Given the description of an element on the screen output the (x, y) to click on. 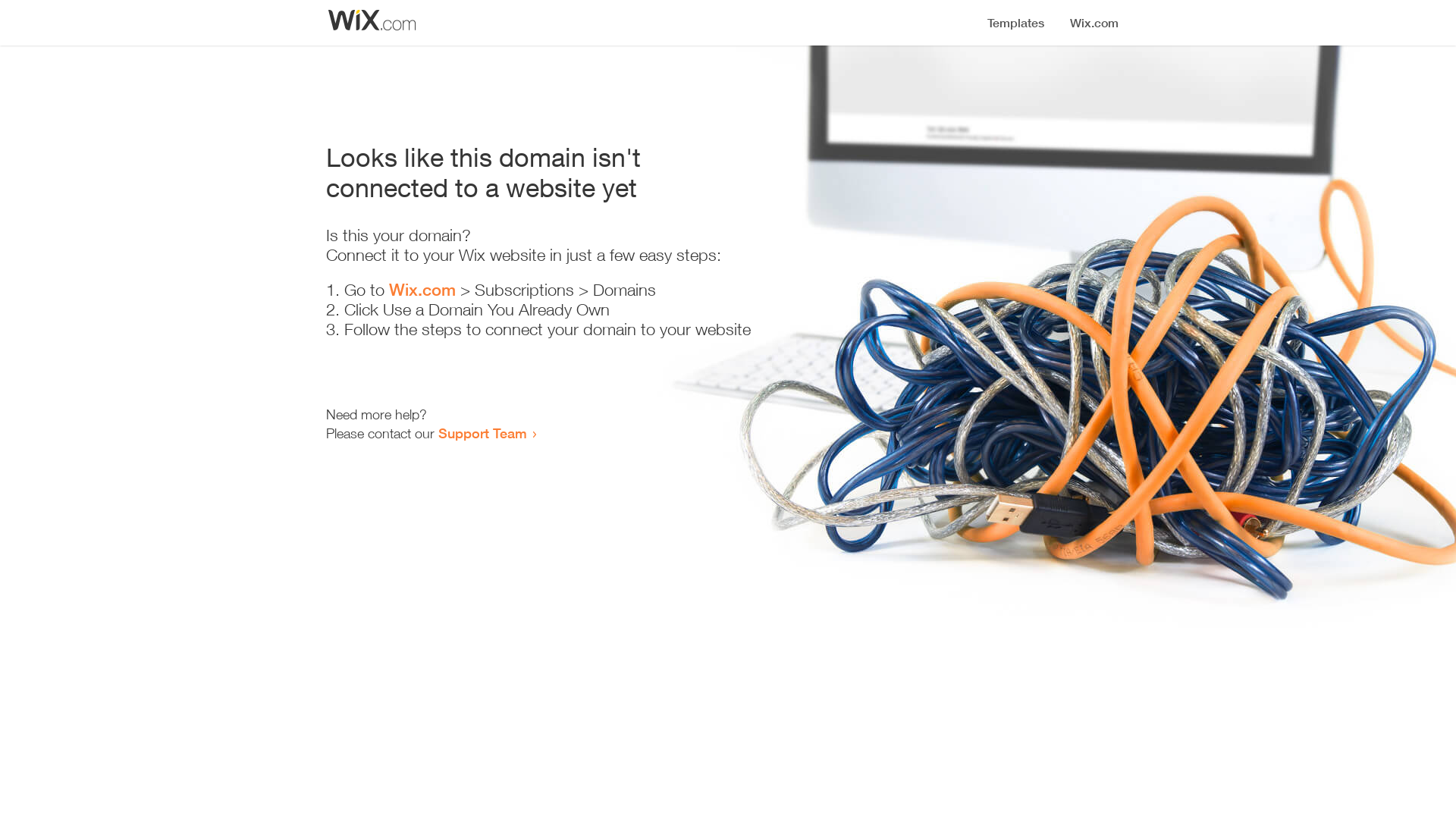
Wix.com Element type: text (422, 289)
Support Team Element type: text (482, 432)
